Given the description of an element on the screen output the (x, y) to click on. 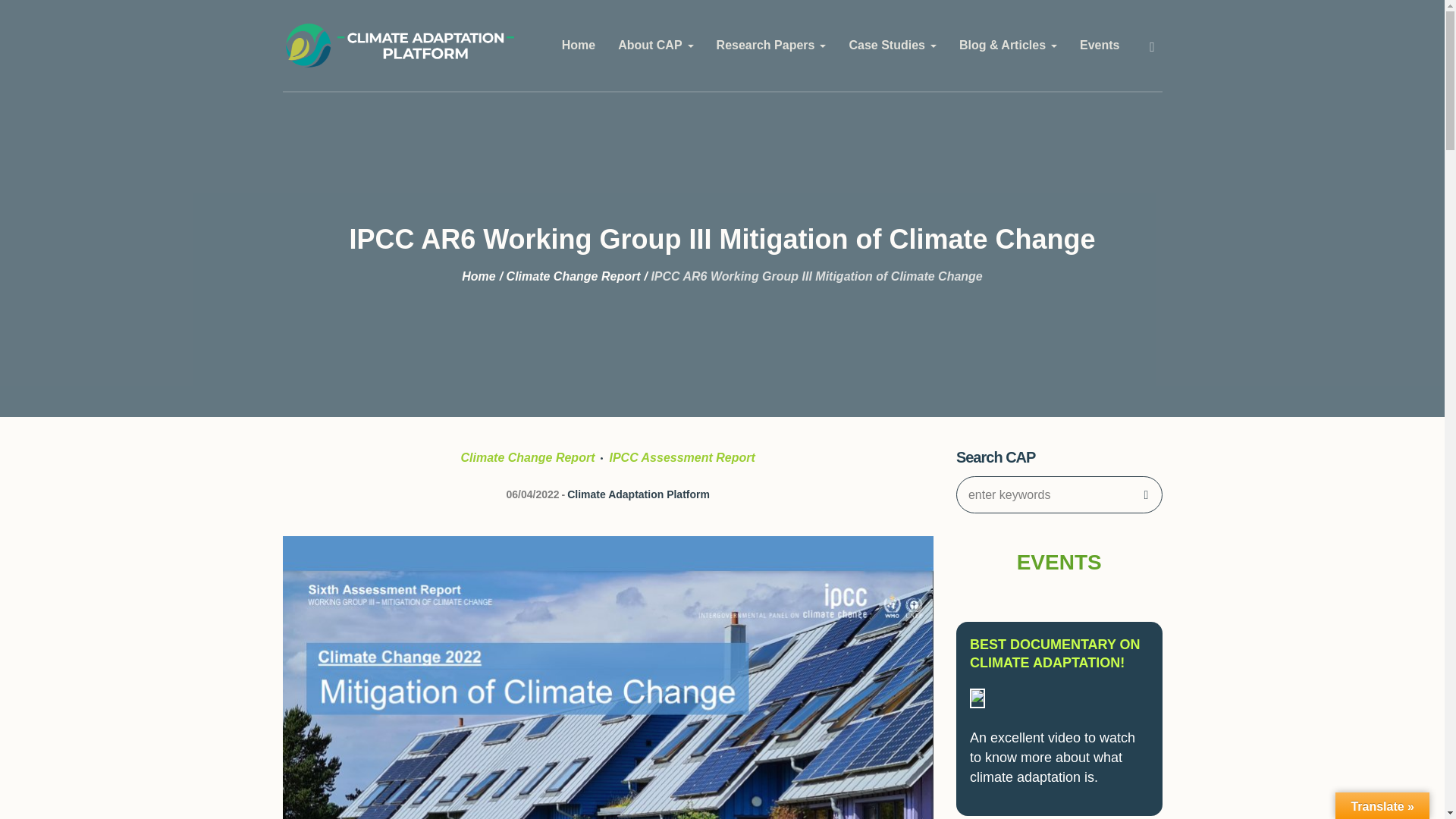
Posts by Climate Adaptation Platform (638, 494)
About Climate Adaptation Platform (655, 45)
Research Papers (771, 45)
About CAP (655, 45)
Case Studies (892, 45)
Home (578, 45)
IPCC AR6 Working Group III Mitigation of Climate Change (607, 752)
